Given the description of an element on the screen output the (x, y) to click on. 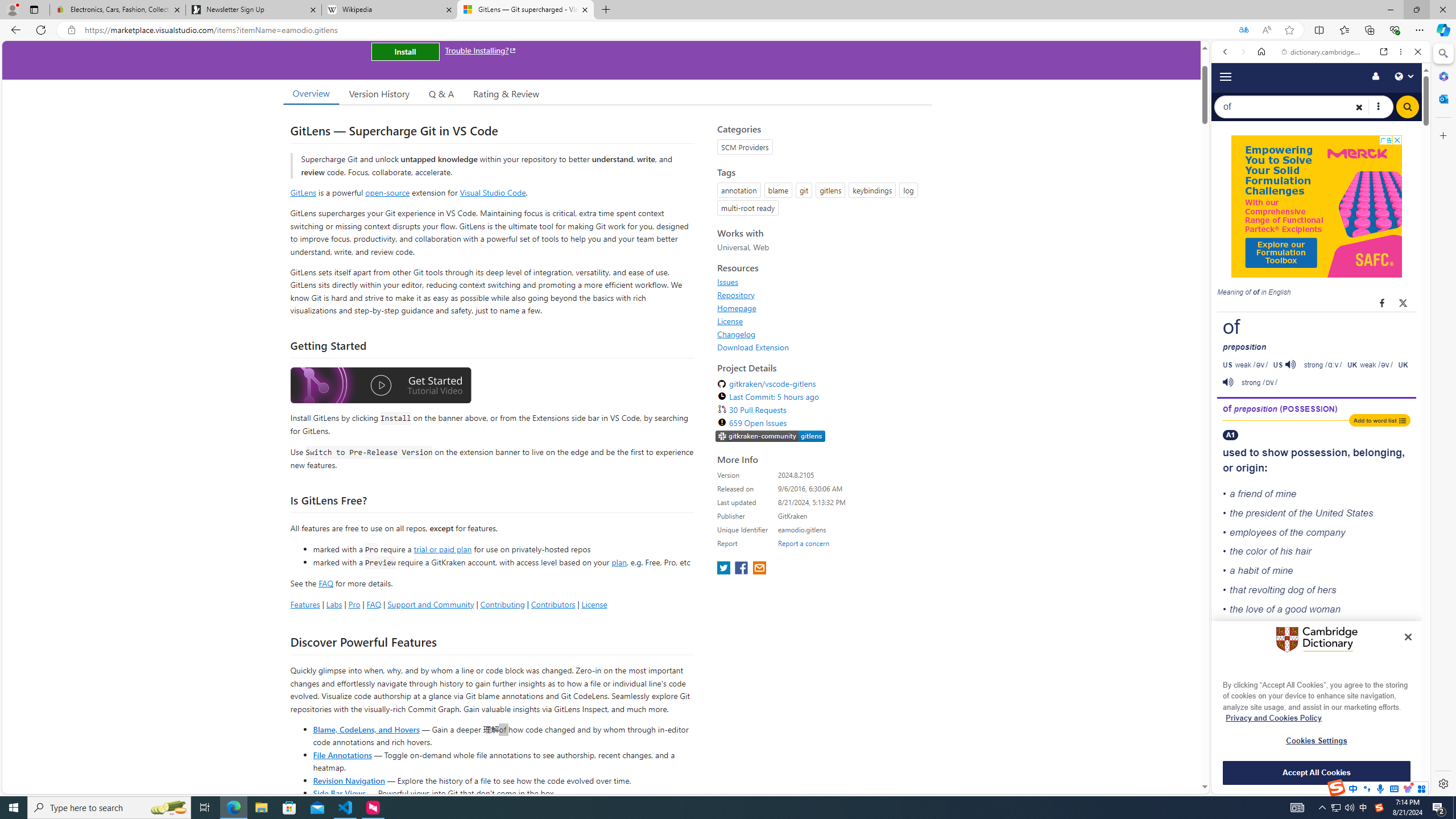
Labs (334, 603)
Support and Community (430, 603)
